Given the description of an element on the screen output the (x, y) to click on. 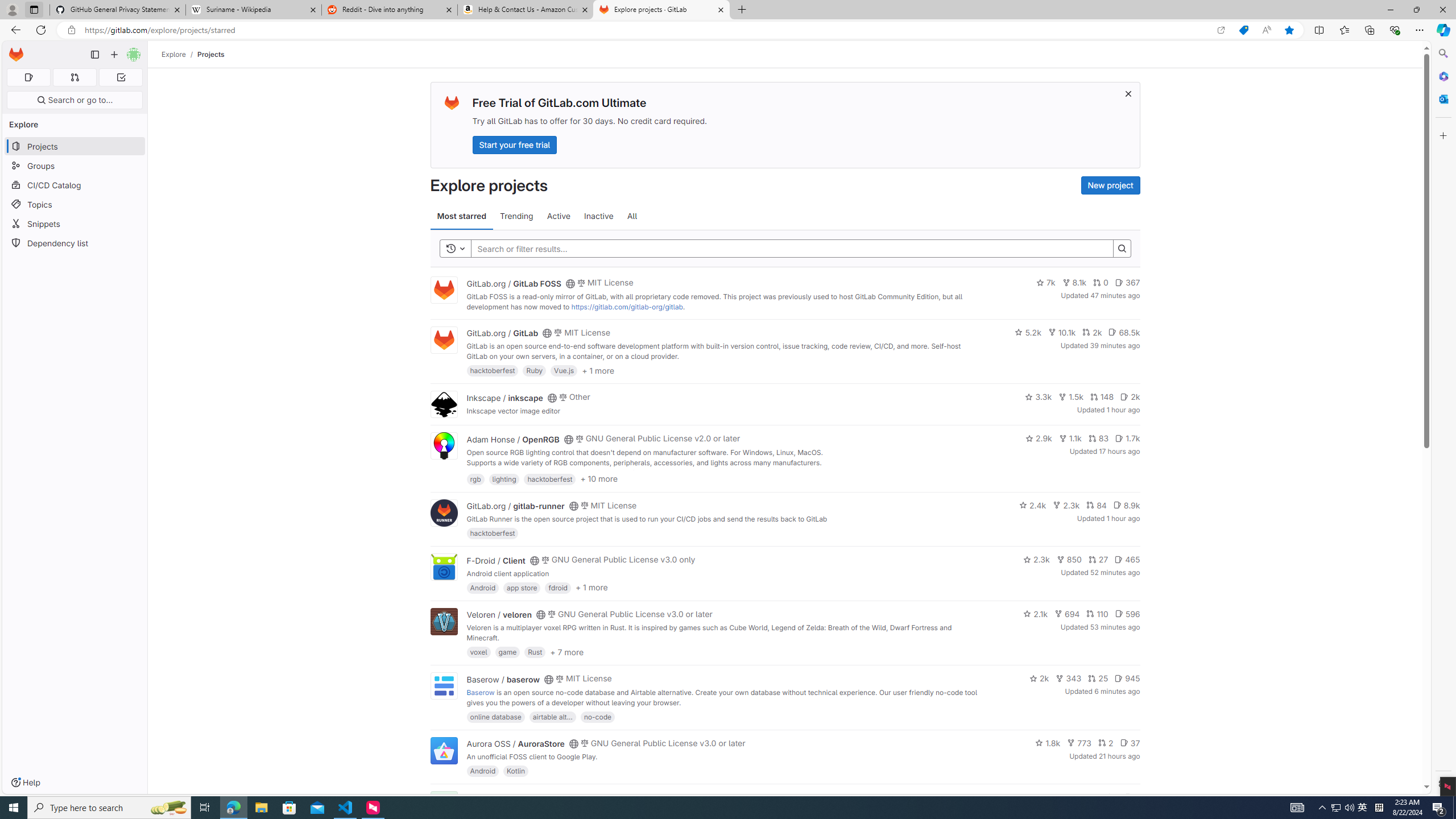
Edouard Klein / falsisign (512, 797)
no-code (597, 715)
https://openrgb.org (563, 472)
8.9k (1126, 504)
Kotlin (515, 770)
Vue.js (563, 370)
New project (1110, 185)
1.1k (1069, 438)
Baserow (480, 691)
1.8k (1048, 742)
Adam Honse / OpenRGB (512, 438)
Ruby (533, 370)
465 (1127, 559)
